Given the description of an element on the screen output the (x, y) to click on. 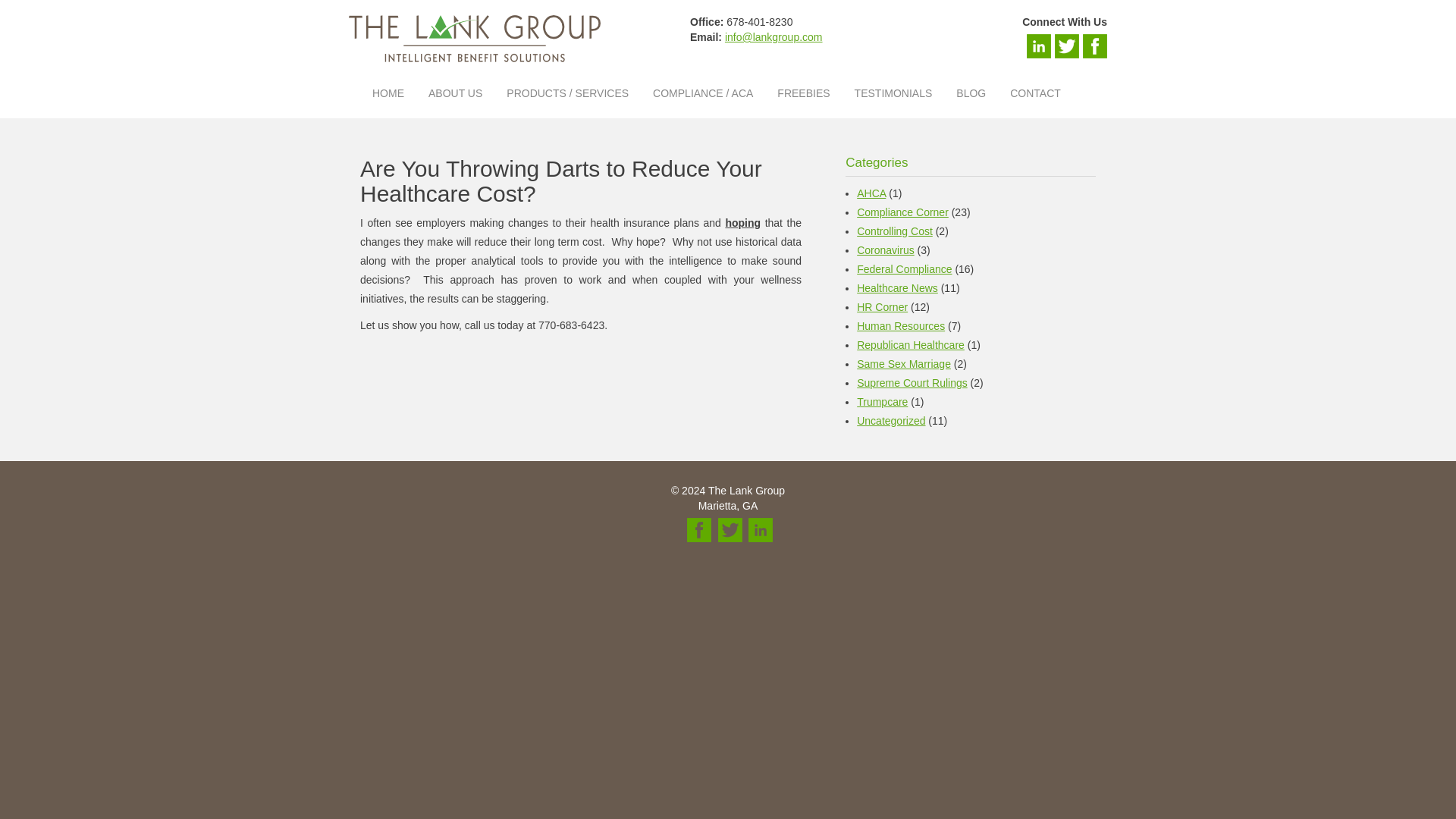
AHCA (871, 193)
Supreme Court Rulings (912, 382)
Compliance Corner (903, 212)
BLOG (970, 93)
Coronavirus (885, 250)
FREEBIES (803, 93)
CONTACT (1035, 93)
Federal Compliance (904, 268)
Same Sex Marriage (903, 363)
Uncategorized (890, 420)
